Given the description of an element on the screen output the (x, y) to click on. 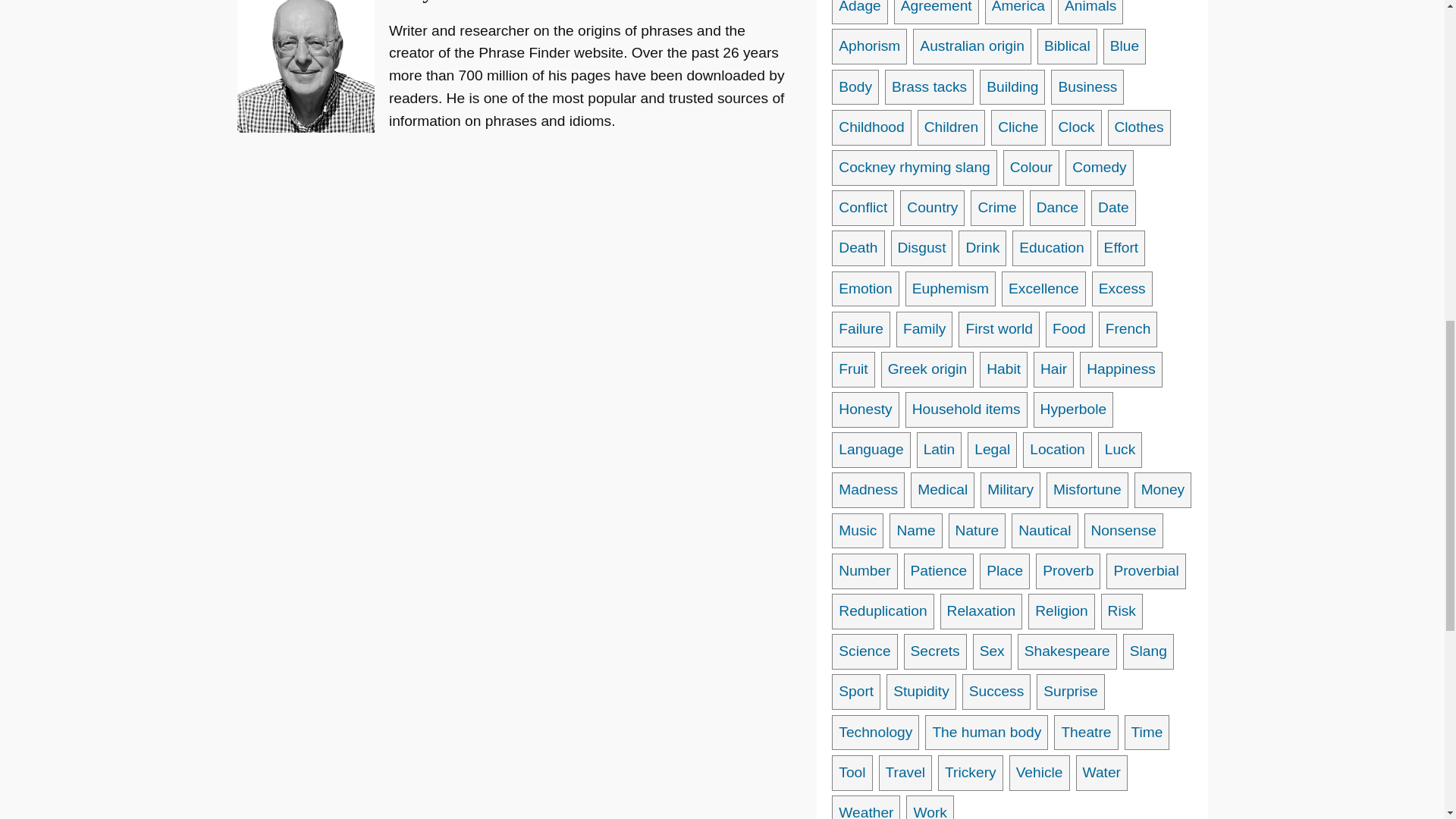
Adage (858, 12)
Agreement (935, 12)
